Given the description of an element on the screen output the (x, y) to click on. 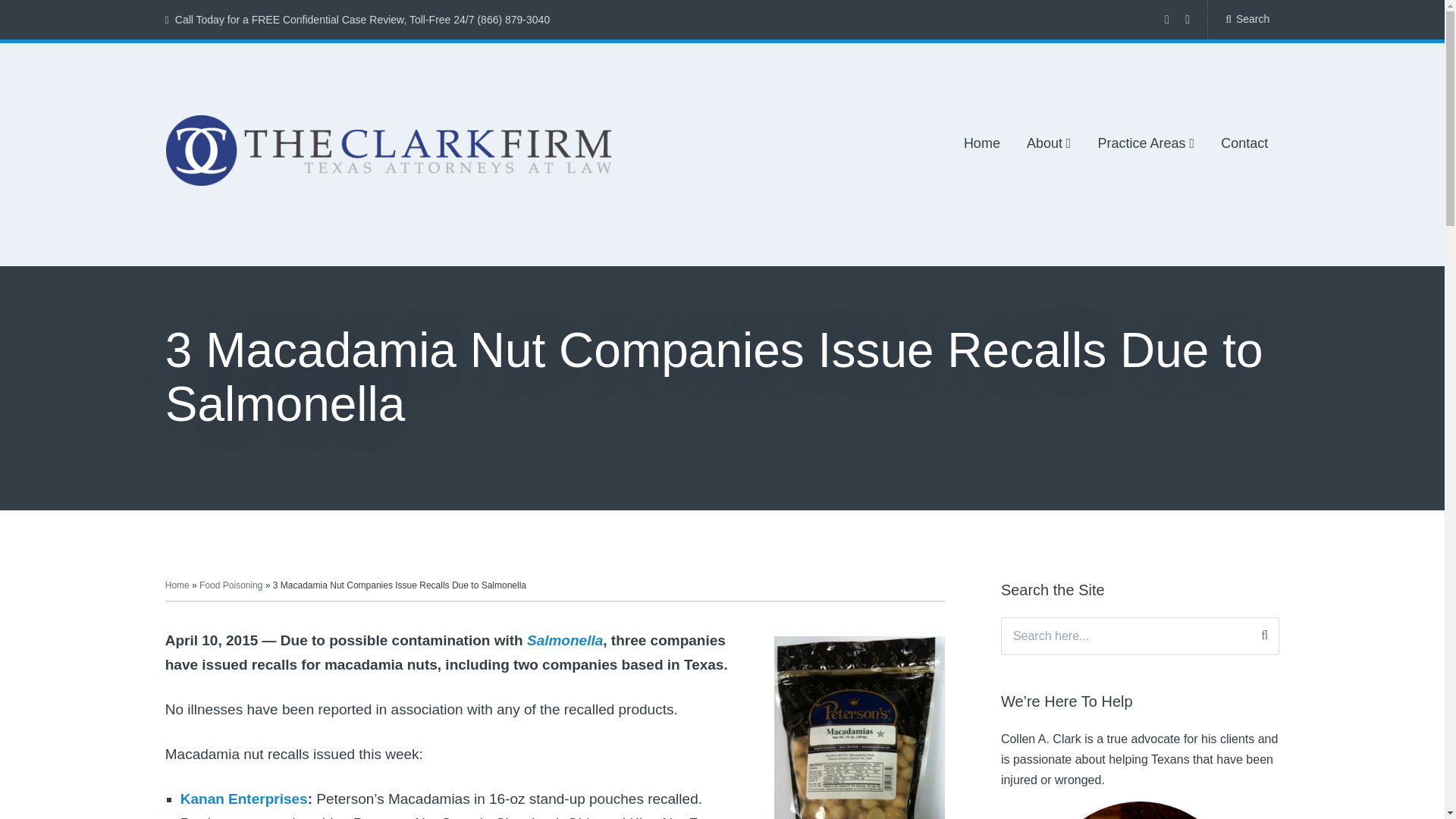
Home (981, 143)
Texas Salmonella Food Poisoning Lawyer (564, 640)
About (1048, 143)
